Given the description of an element on the screen output the (x, y) to click on. 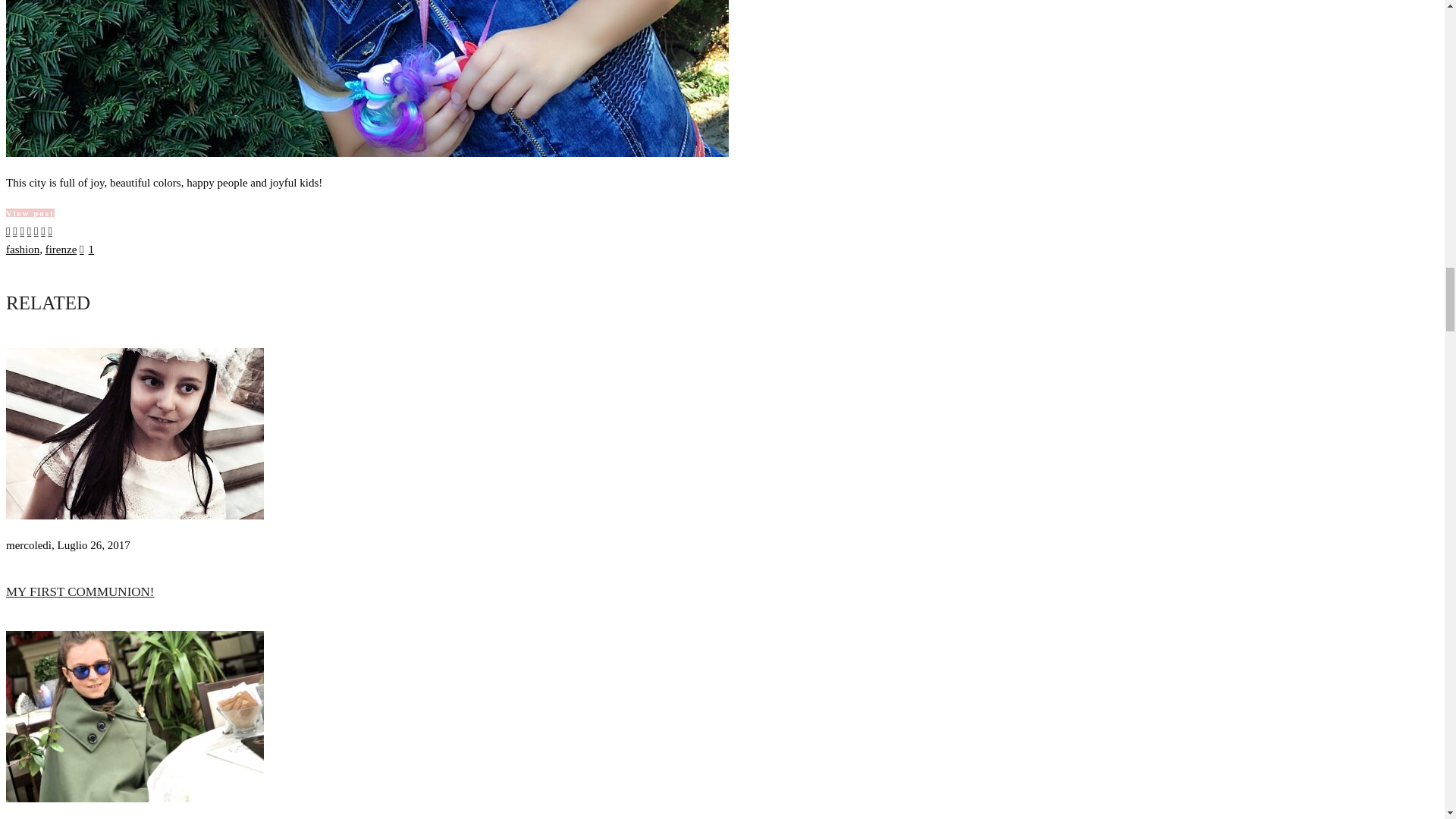
My first communion! (134, 515)
Like this (87, 249)
